Given the description of an element on the screen output the (x, y) to click on. 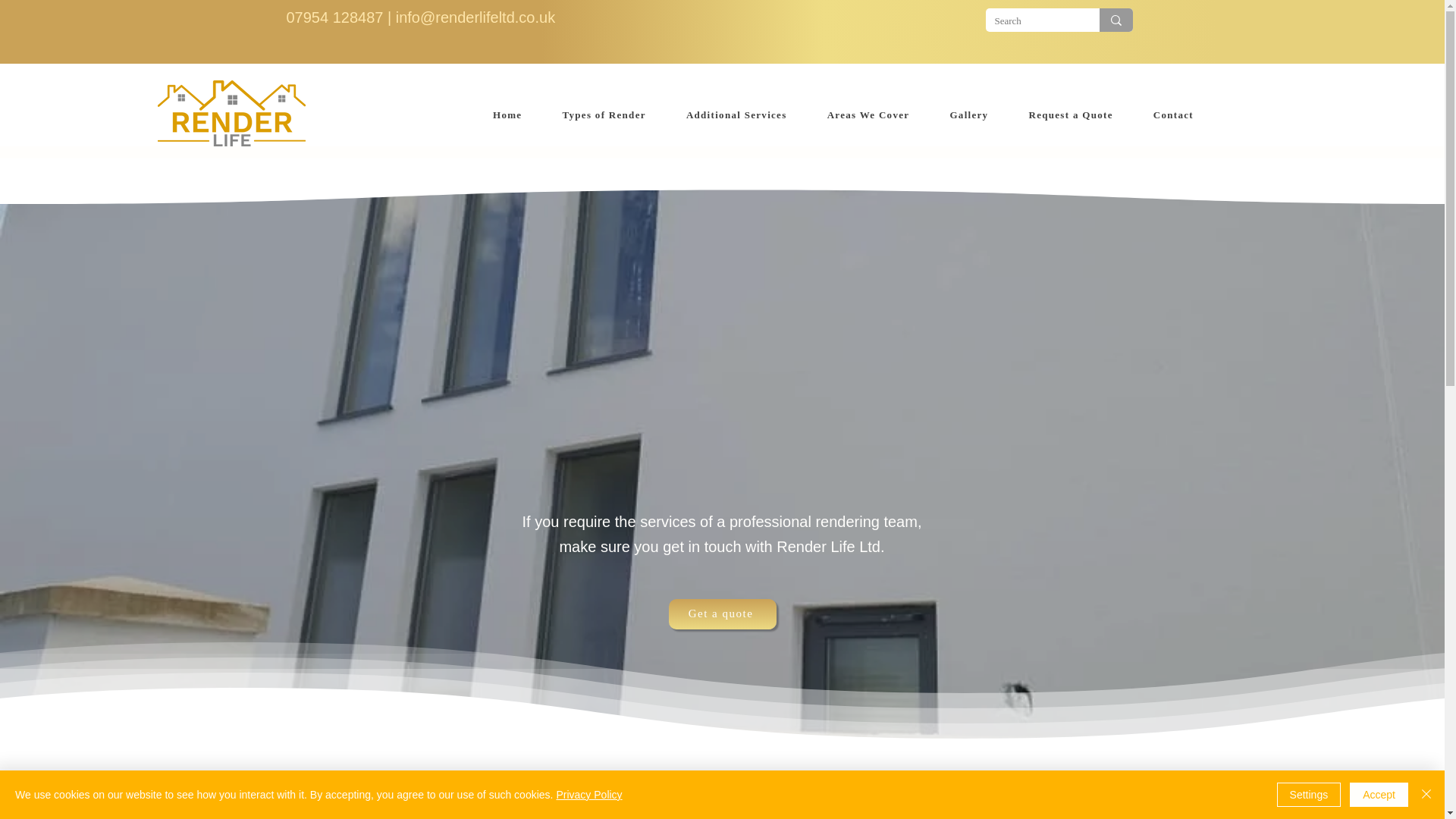
Get a quote (722, 613)
Contact (1172, 115)
Additional Services (735, 115)
Home (508, 115)
Privacy Policy (588, 794)
Settings (1308, 794)
Request a Quote (1070, 115)
Gallery (969, 115)
Accept (1378, 794)
